Given the description of an element on the screen output the (x, y) to click on. 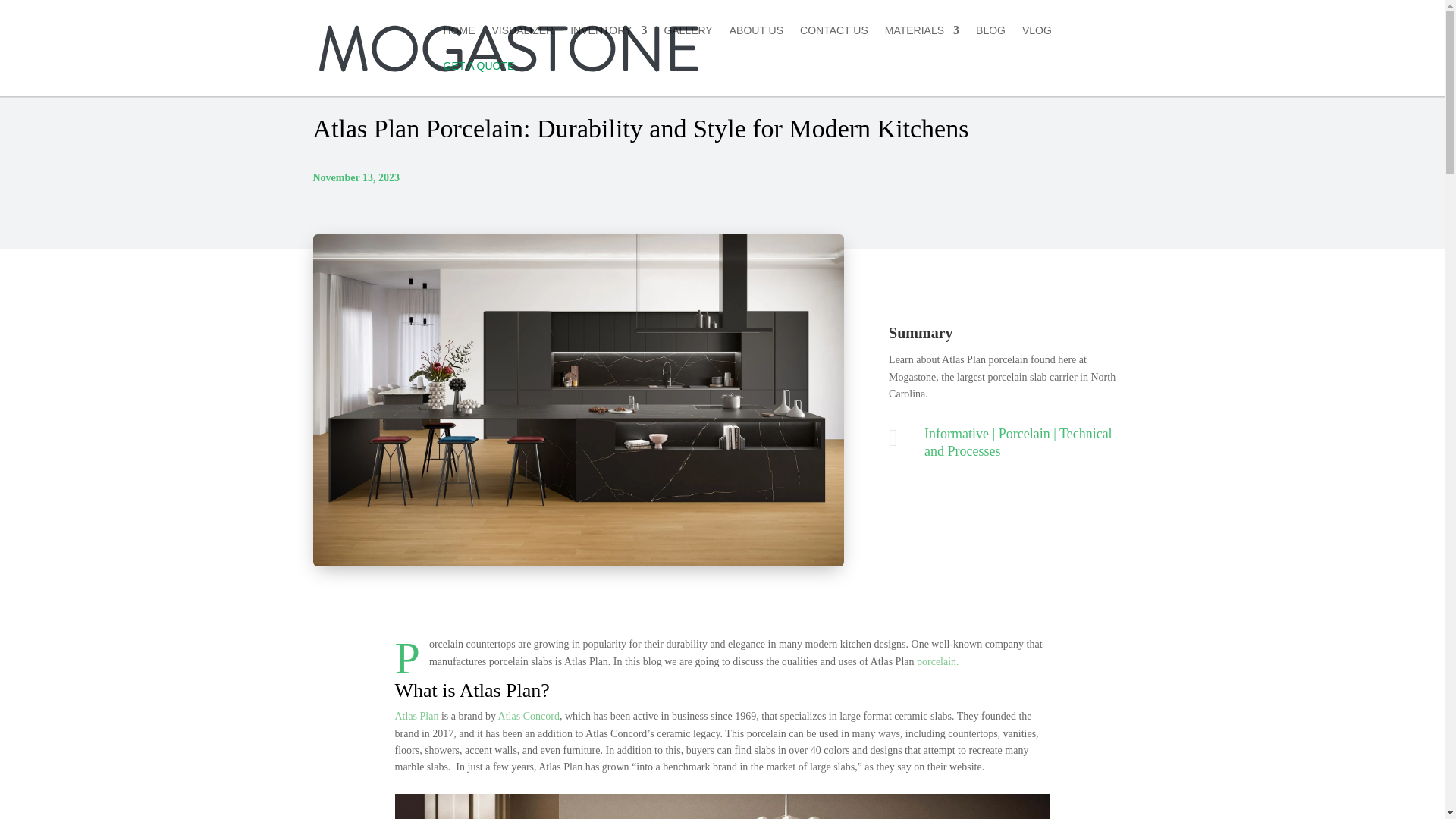
GALLERY (687, 42)
White Marble Kitchen (721, 806)
INVENTORY (608, 42)
HOME (458, 42)
VISUALIZER (522, 42)
GET A QUOTE (477, 78)
ABOUT US (756, 42)
CONTACT US (833, 42)
MATERIALS (922, 42)
